Given the description of an element on the screen output the (x, y) to click on. 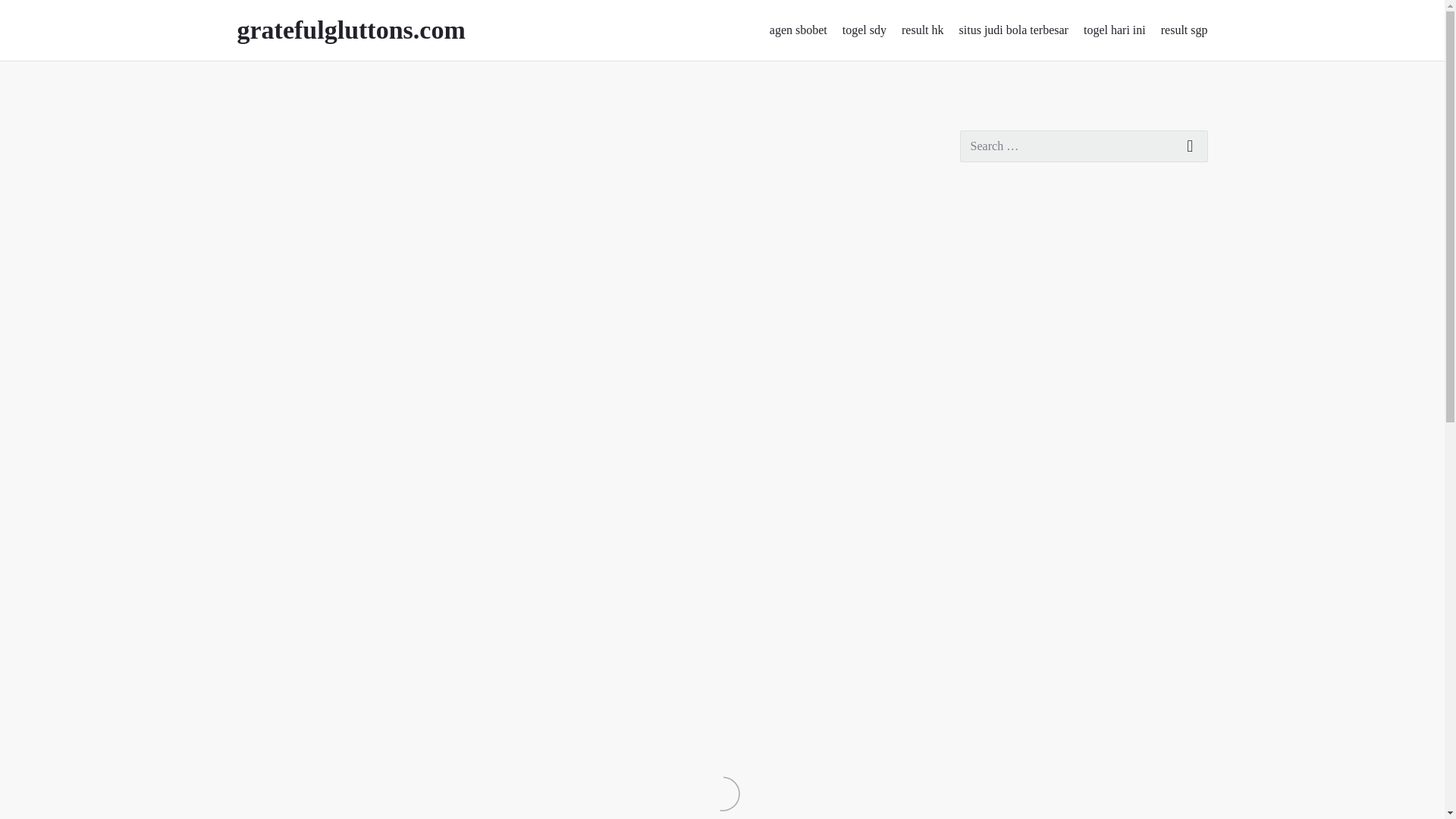
May 2023 (985, 603)
November 2022 (1000, 798)
April 2024 (987, 245)
January 2024 (993, 342)
November 2023 (1000, 408)
Sunday, October 30, 2022, 10:03 pm (280, 138)
Posts by Admin (362, 138)
result sgp (1184, 30)
gratefulgluttons.com (370, 30)
March 2024 (990, 278)
December 2023 (1000, 375)
Admin (362, 138)
September 2023 (1001, 472)
SEARCH (1190, 146)
situs judi bola terbesar (1013, 30)
